Given the description of an element on the screen output the (x, y) to click on. 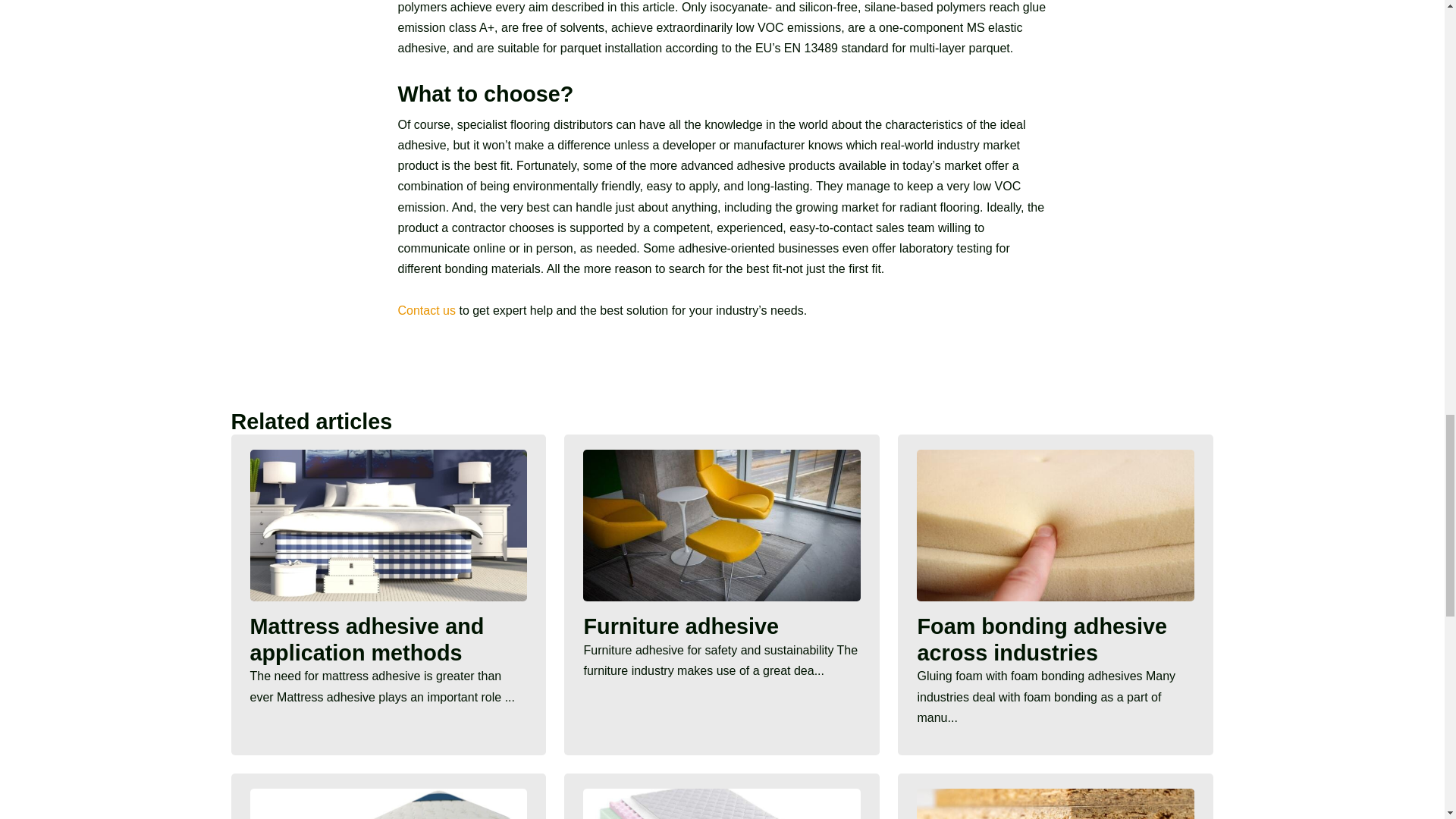
Contact us (425, 309)
